Given the description of an element on the screen output the (x, y) to click on. 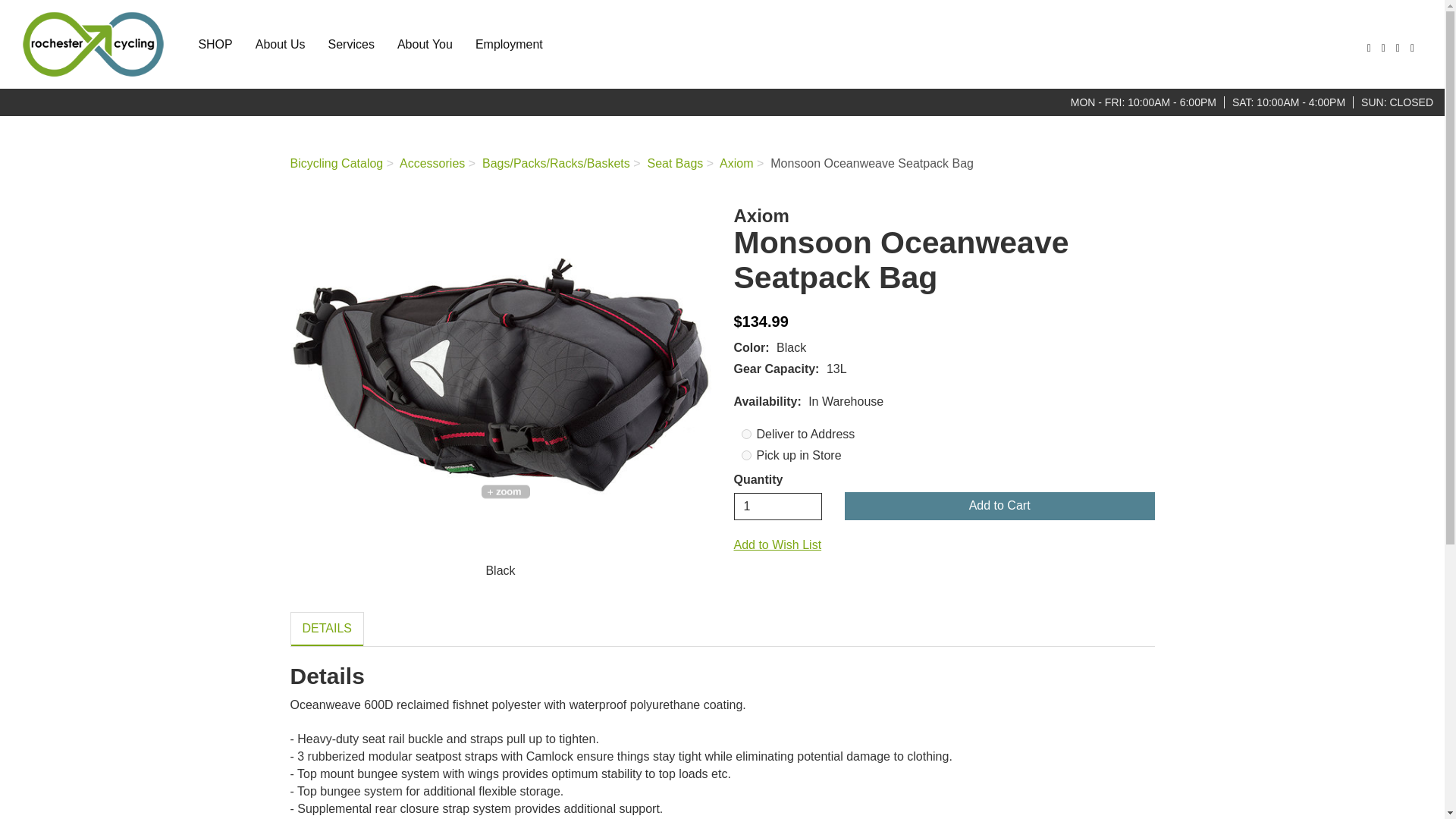
Cart (1410, 47)
1 (777, 506)
Stores (1396, 47)
on (746, 433)
Rochester Cycling Home Page (93, 43)
SHOP (214, 44)
Axiom Monsoon Oceanweave Seatpack Bag Black (499, 377)
on (746, 455)
Account (1382, 47)
